Given the description of an element on the screen output the (x, y) to click on. 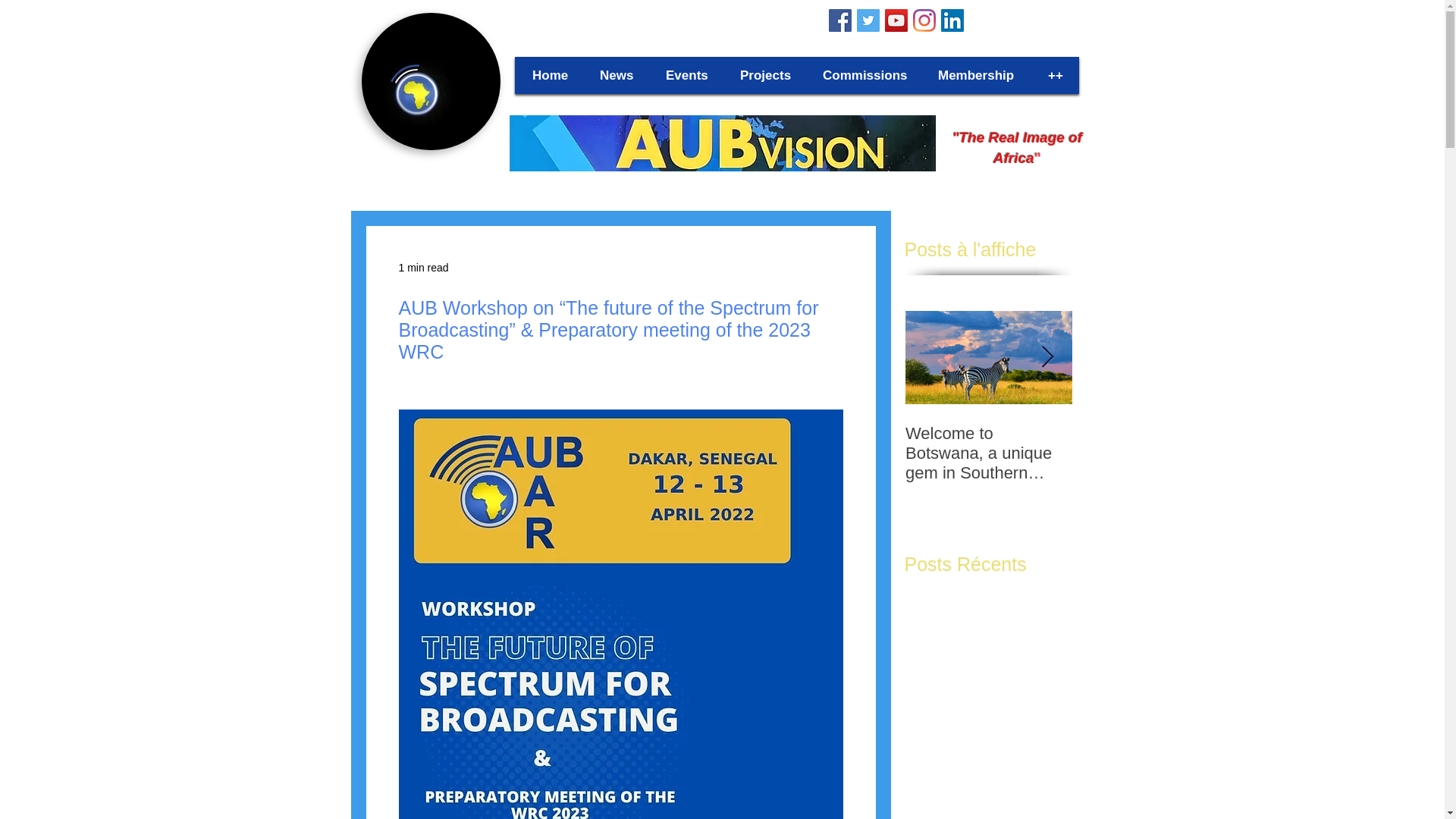
Projects (766, 75)
Commissions (864, 75)
Membership (976, 75)
News (617, 75)
1 min read (423, 266)
Events (687, 75)
Home (550, 75)
